Given the description of an element on the screen output the (x, y) to click on. 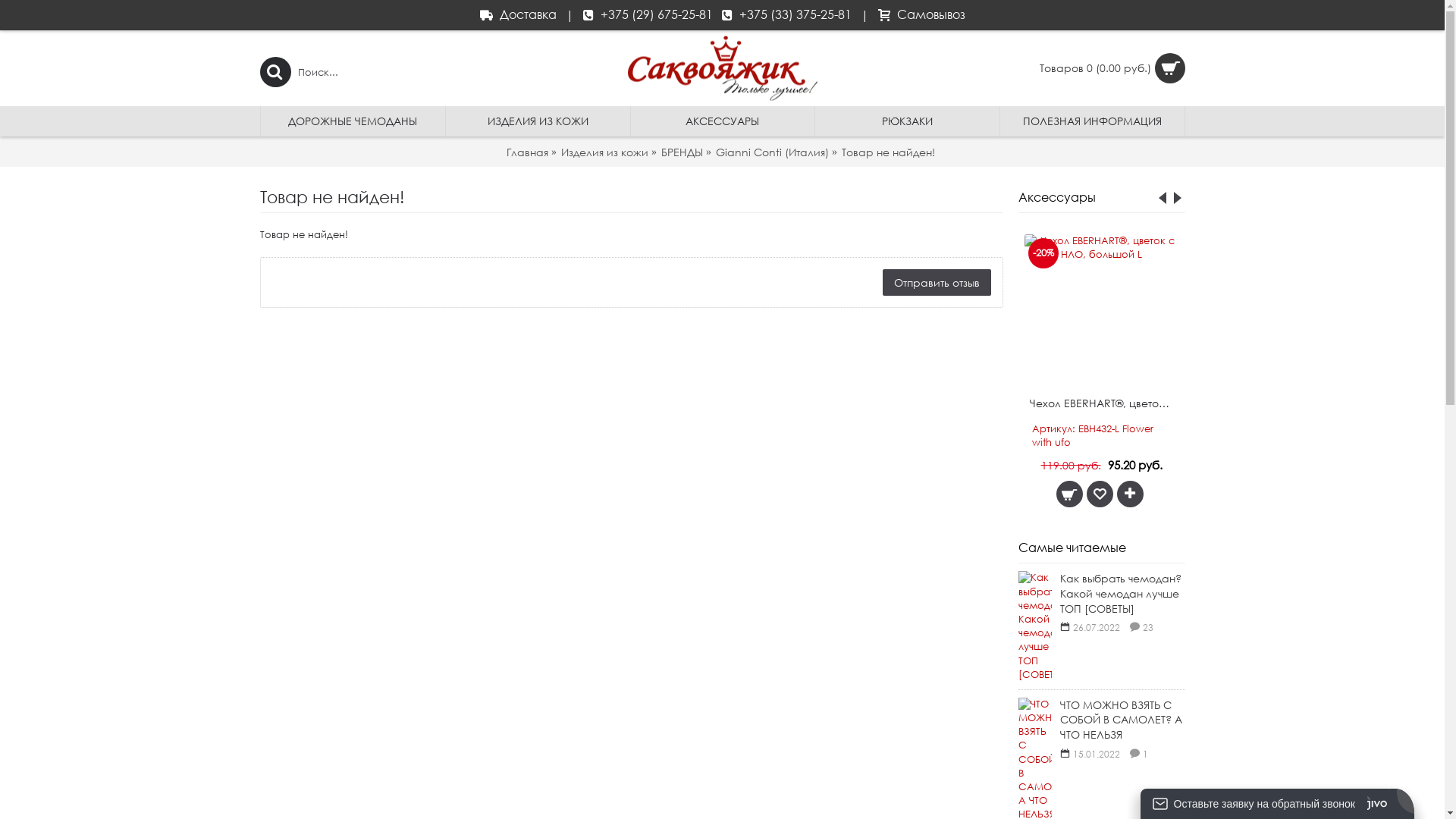
+375 (33) 375-25-81 Element type: text (786, 15)
+375 (29) 675-25-81 Element type: text (646, 15)
